Given the description of an element on the screen output the (x, y) to click on. 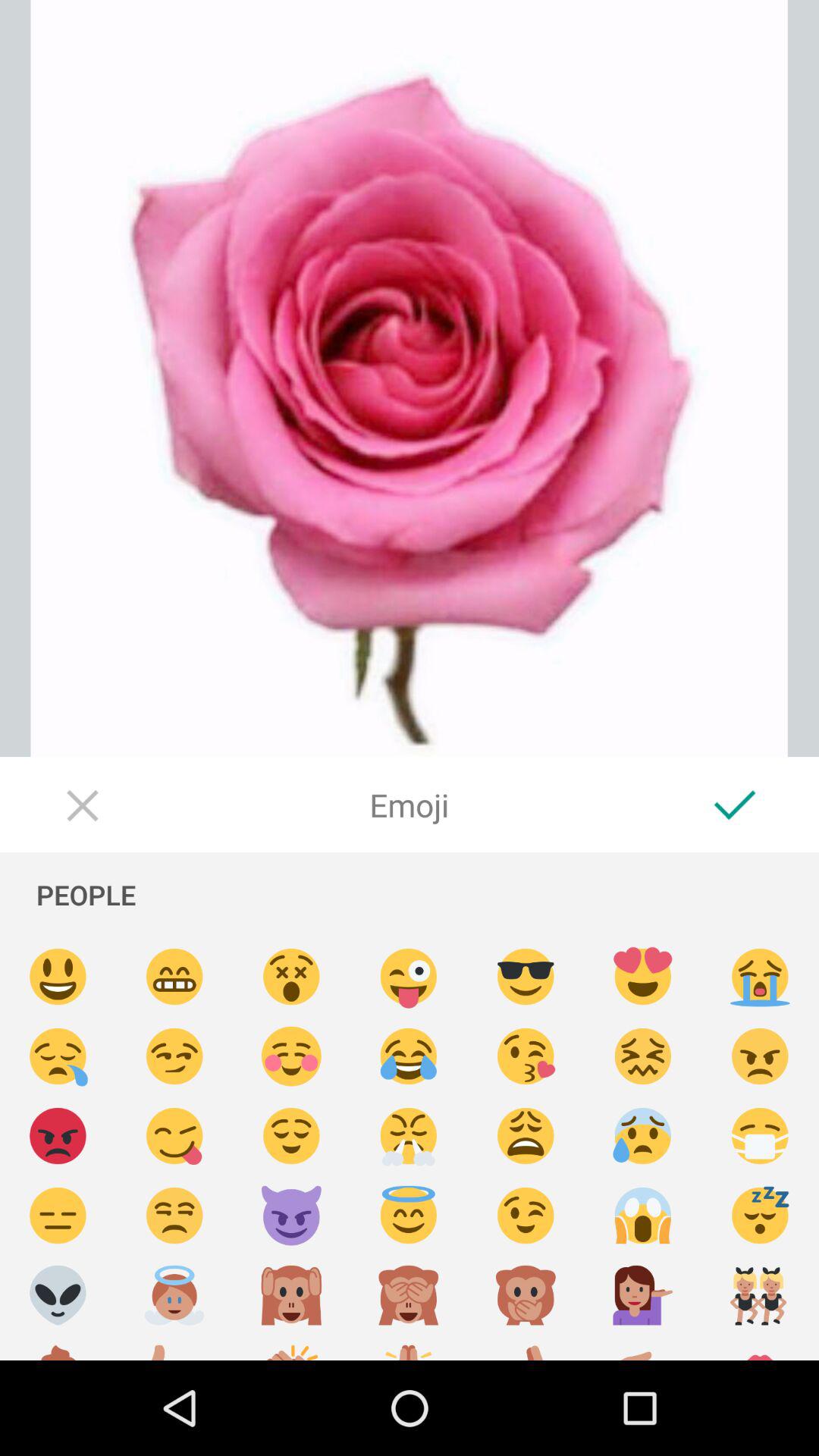
select emoji (525, 1347)
